Given the description of an element on the screen output the (x, y) to click on. 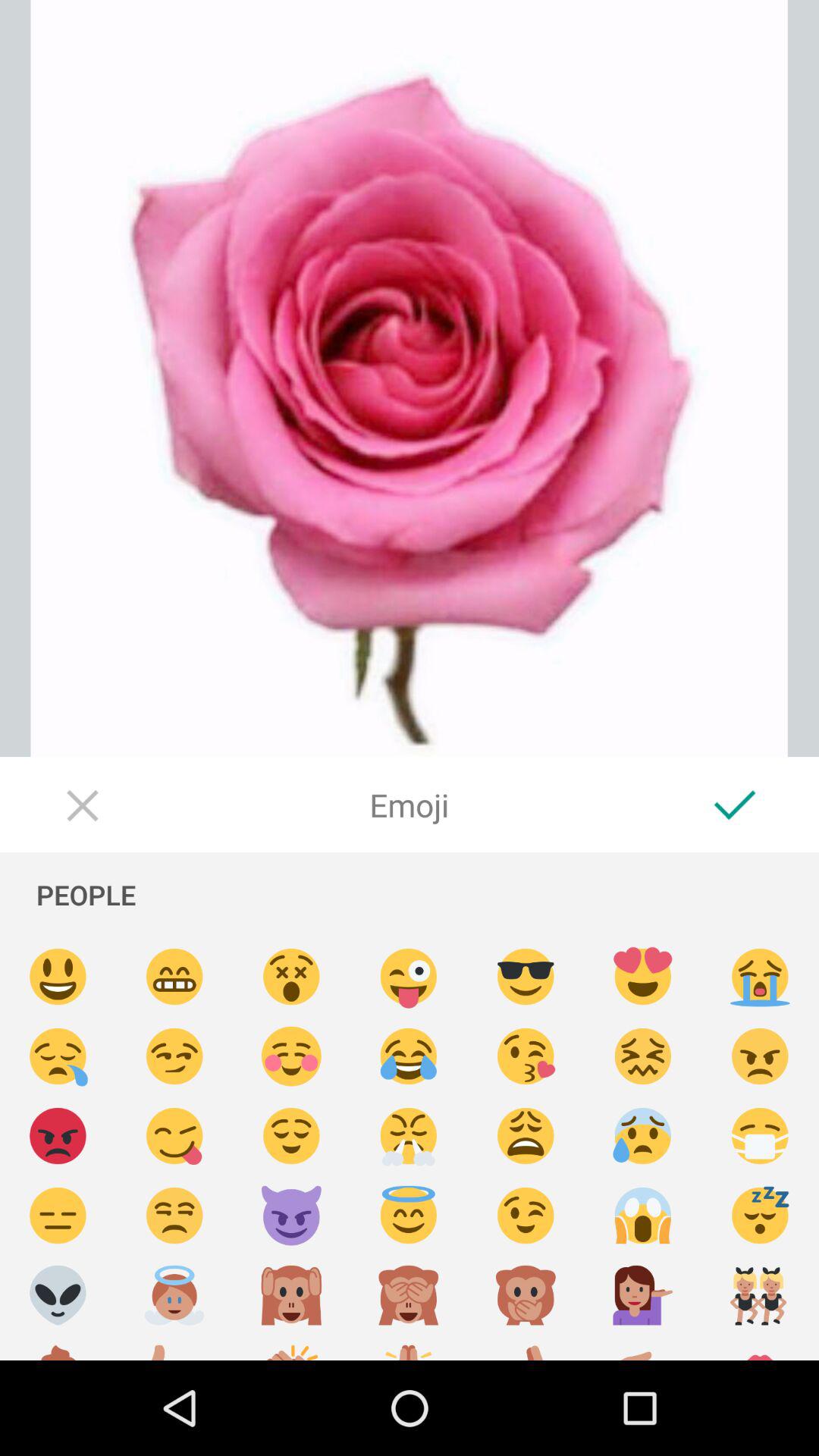
select emoji (525, 1347)
